Given the description of an element on the screen output the (x, y) to click on. 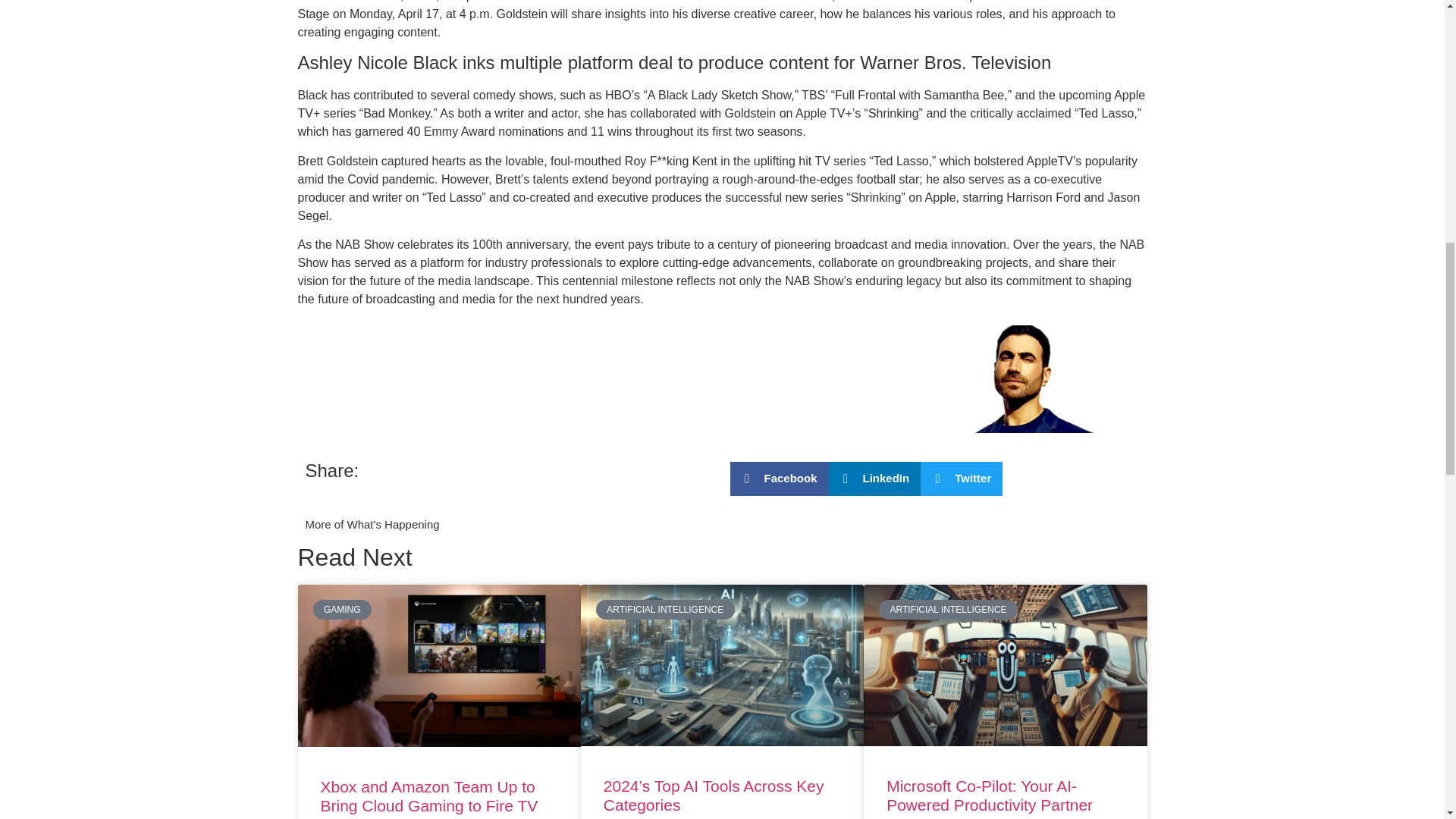
Microsoft Co-Pilot: Your AI-Powered Productivity Partner (989, 795)
